Given the description of an element on the screen output the (x, y) to click on. 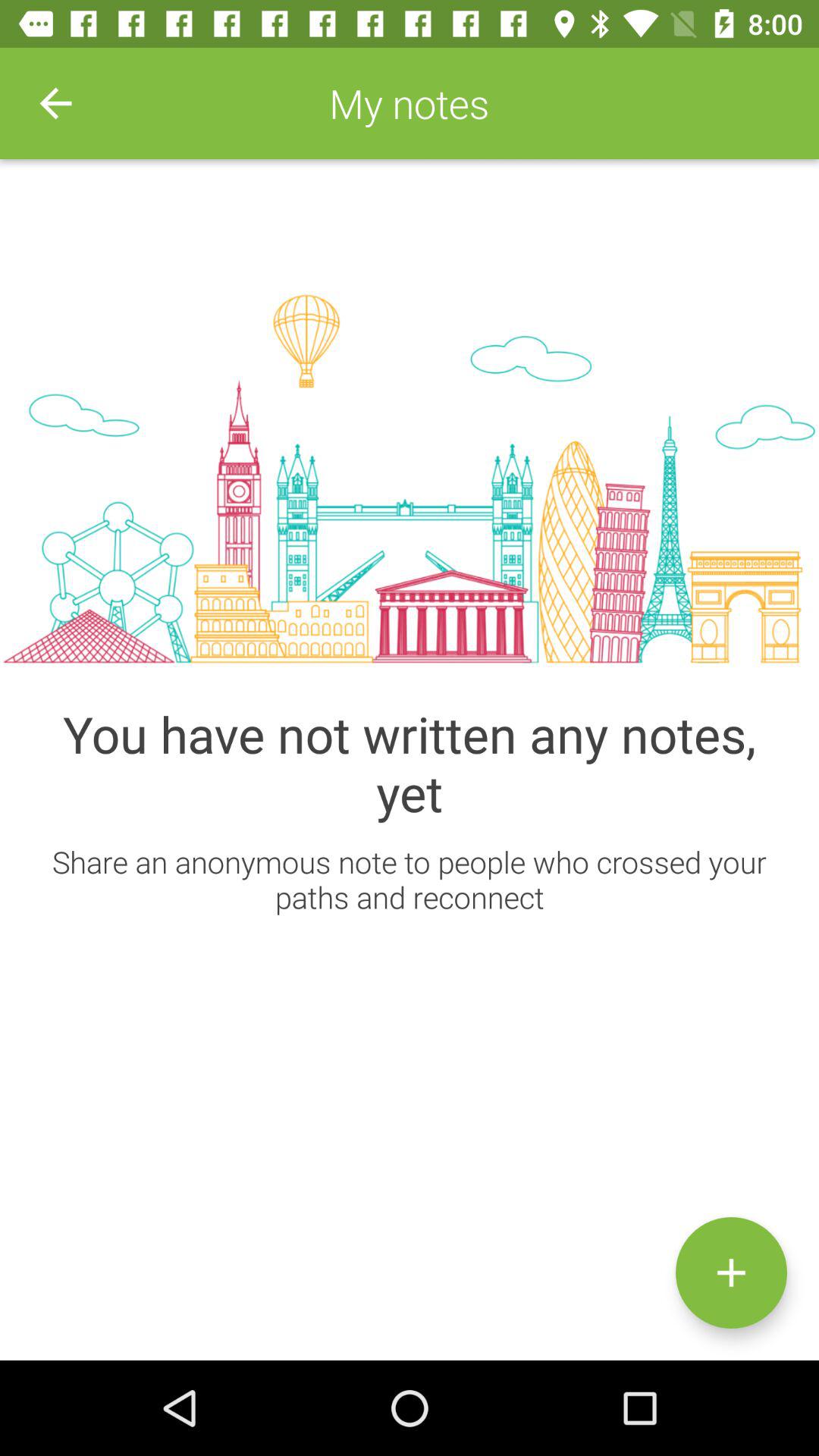
choose the icon at the top left corner (55, 103)
